Given the description of an element on the screen output the (x, y) to click on. 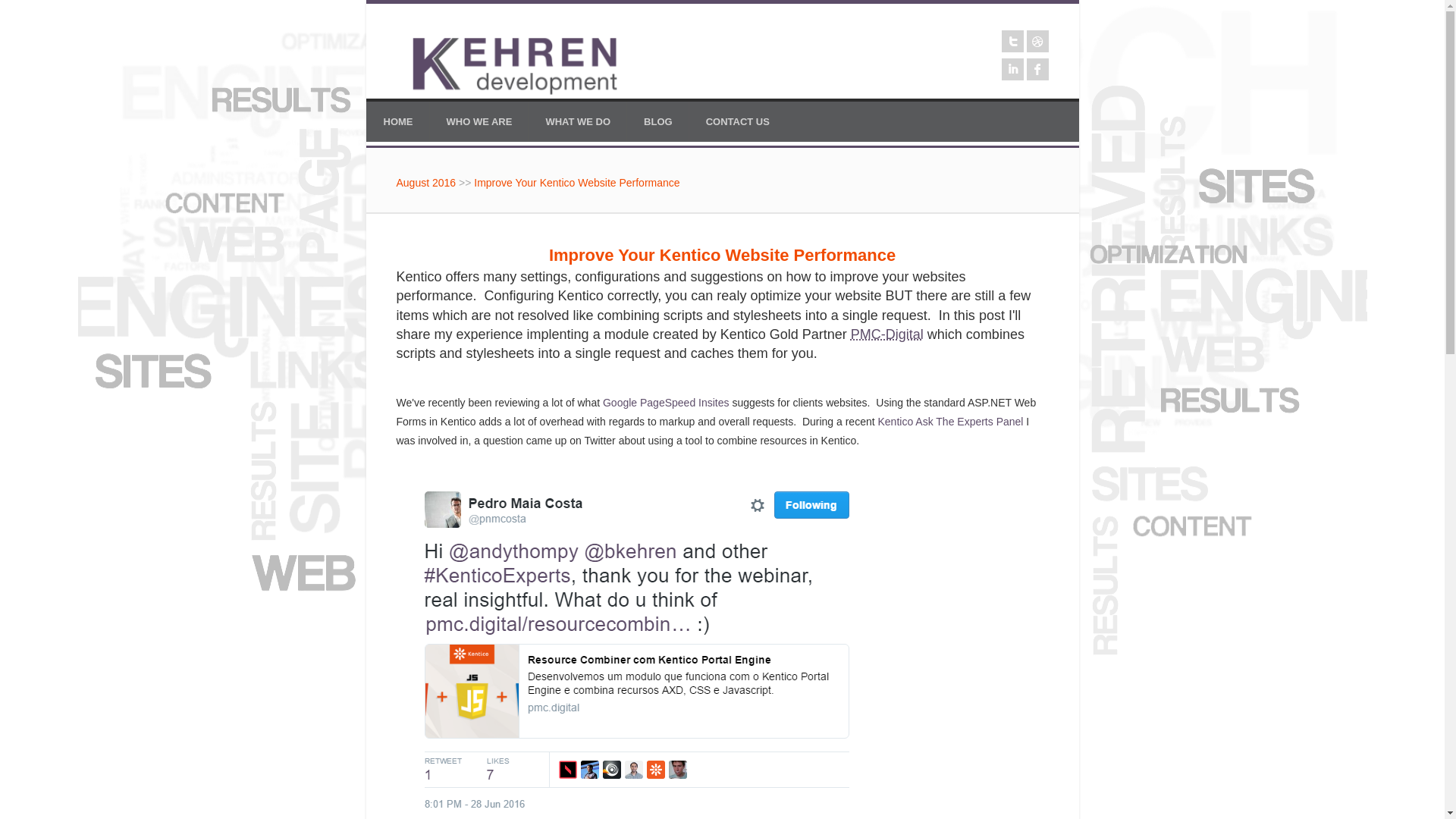
WHAT WE DO (577, 121)
Google PageSpeed Insites (665, 402)
PMC-Digital (886, 334)
HOME (397, 121)
Kentico Ask The Experts Panel (950, 421)
CONTACT US (738, 121)
Improve Your Kentico Website Performance (576, 182)
August 2016 (425, 182)
BLOG (657, 121)
WHO WE ARE (479, 121)
